Given the description of an element on the screen output the (x, y) to click on. 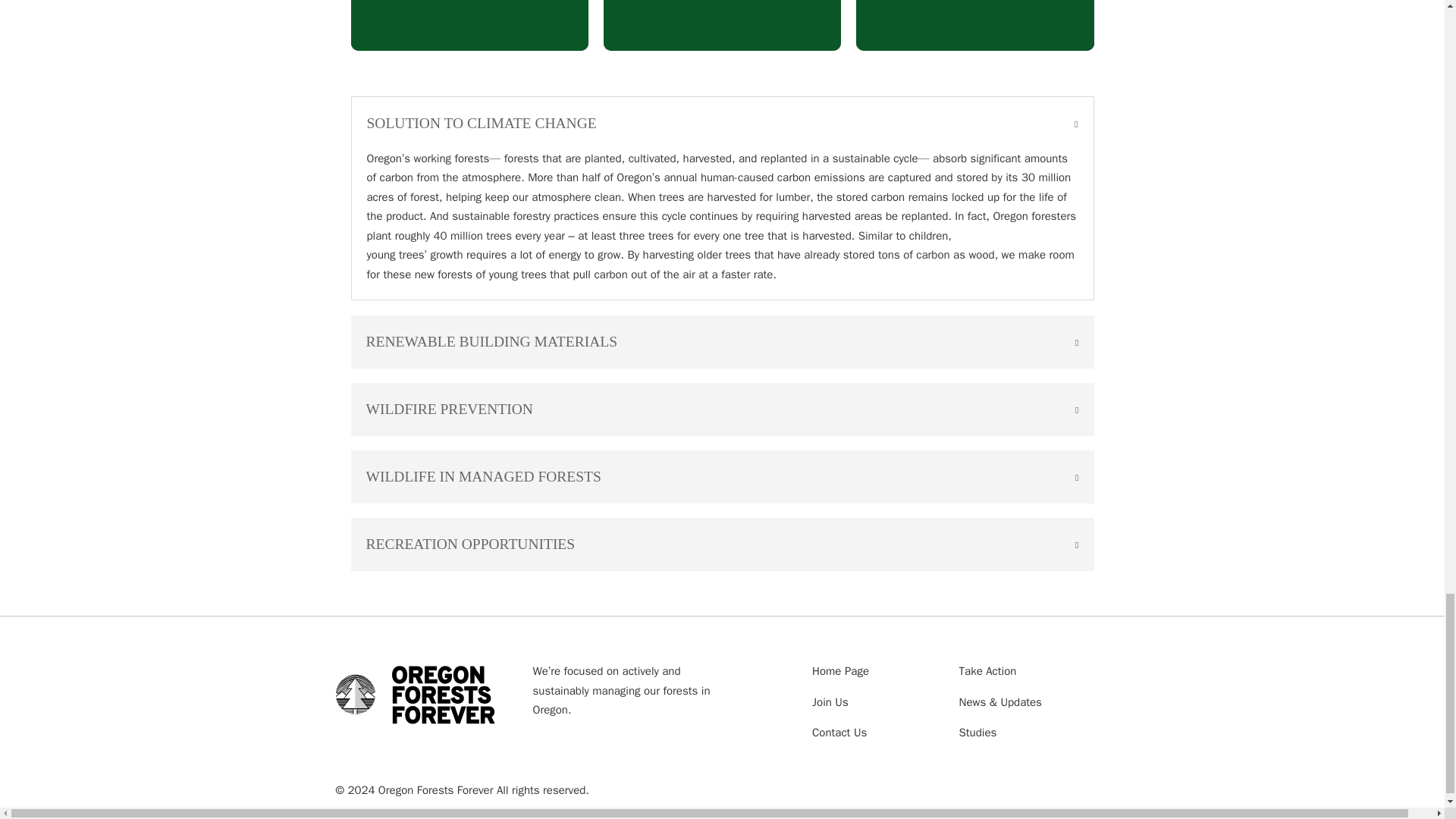
Home Page (840, 671)
Join Us (840, 702)
